Given the description of an element on the screen output the (x, y) to click on. 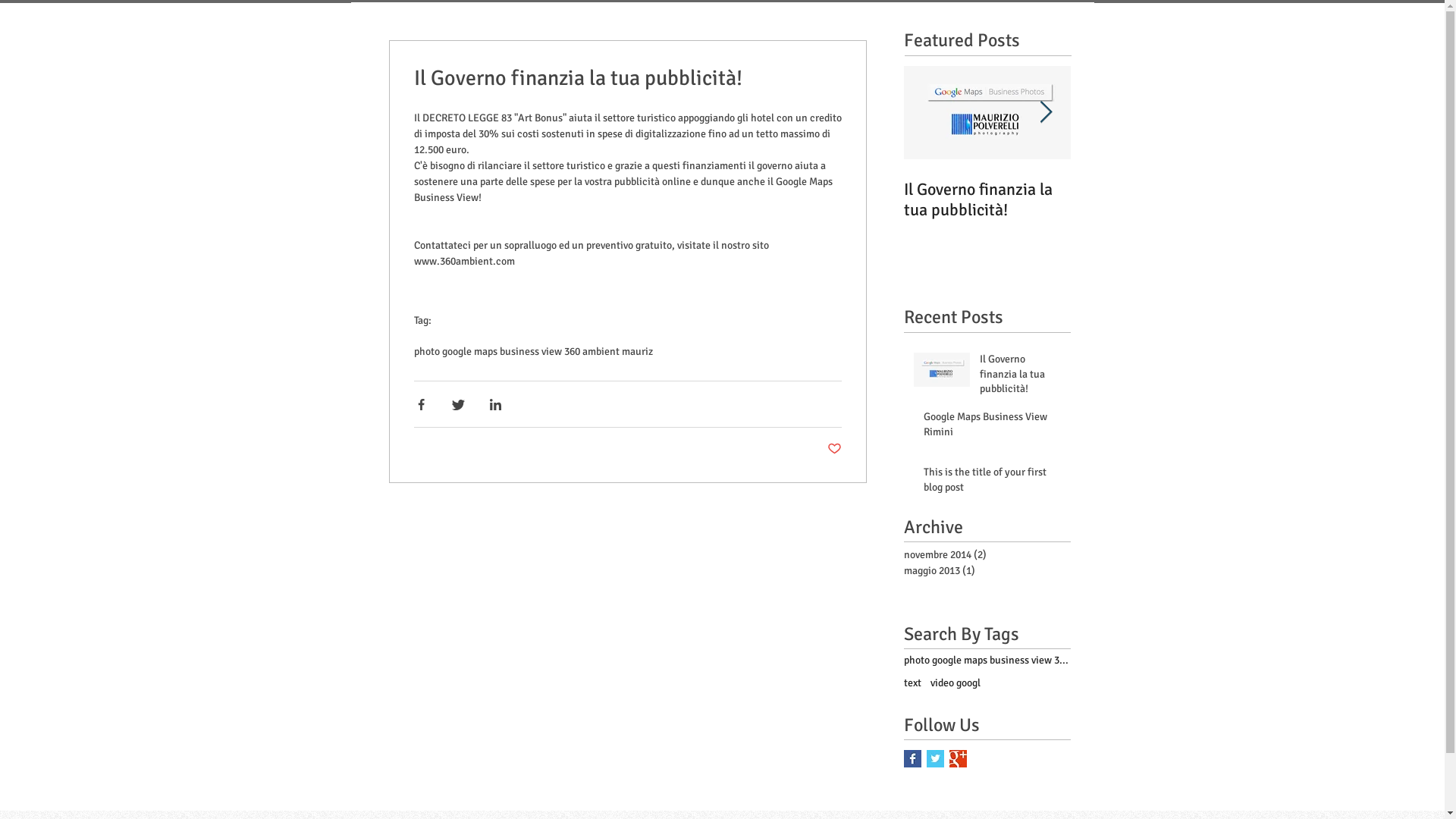
photo google maps business view 360 ambient mauriz Element type: text (986, 660)
text Element type: text (912, 683)
maggio 2013 (1) Element type: text (983, 570)
novembre 2014 (2) Element type: text (983, 554)
Google Maps Business View Rimini Element type: text (992, 427)
Post non contrassegnato con Mi piace Element type: text (833, 449)
Google Maps Business View Rimini Element type: text (1153, 198)
This is the title of your first blog post Element type: text (992, 482)
photo google maps business view 360 ambient mauriz Element type: text (533, 351)
video googl Element type: text (954, 683)
